Given the description of an element on the screen output the (x, y) to click on. 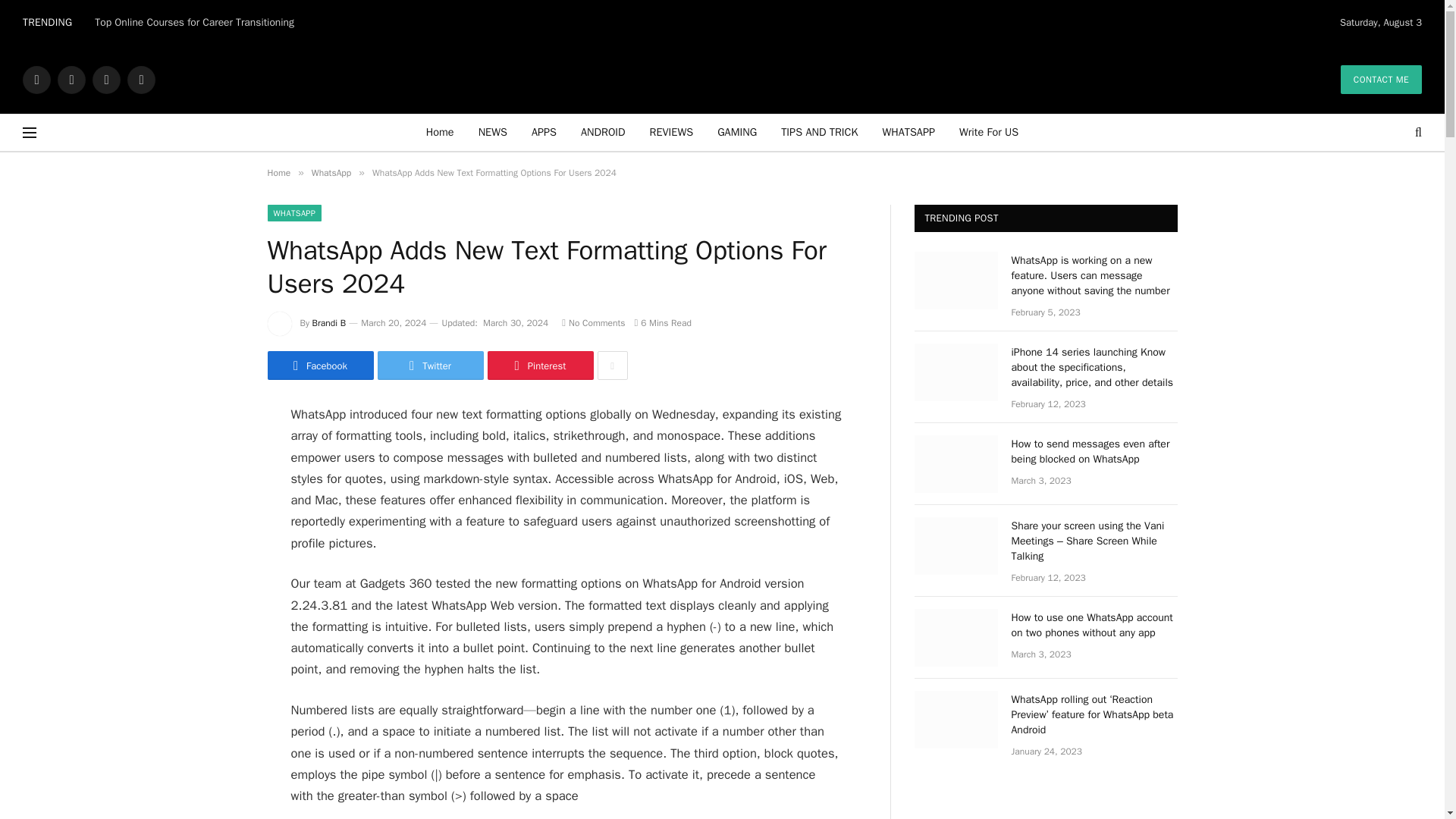
ANDROID (603, 132)
REVIEWS (671, 132)
Top Online Courses for Career Transitioning (197, 22)
WhatsApp (141, 79)
Posts by Brandi B (329, 322)
WHATSAPP (908, 132)
CONTACT ME (1381, 79)
TIPS AND TRICK (818, 132)
TechNewzTOP (722, 79)
Share on Facebook (319, 365)
